Given the description of an element on the screen output the (x, y) to click on. 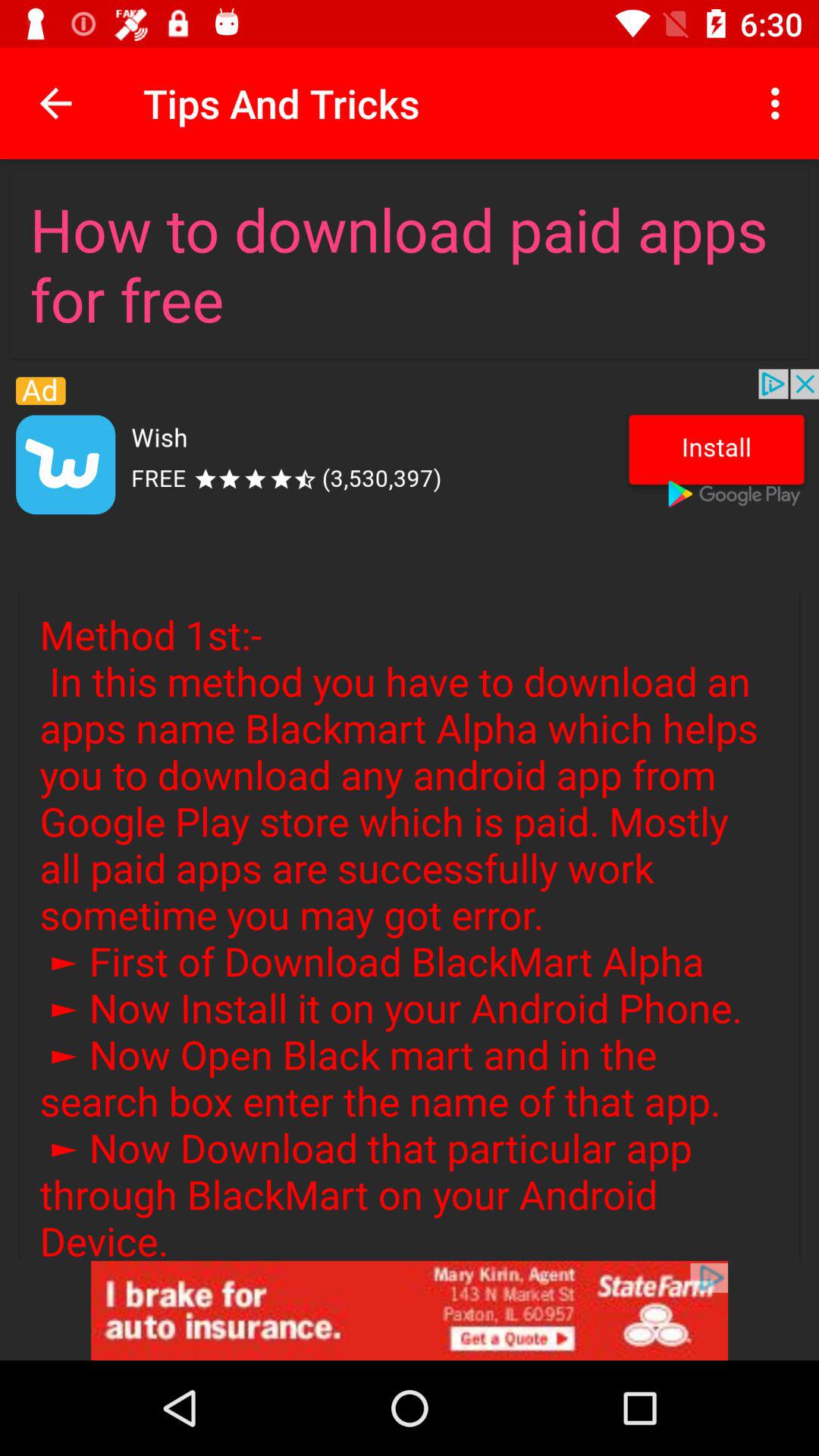
go to an advertisement (409, 1310)
